Given the description of an element on the screen output the (x, y) to click on. 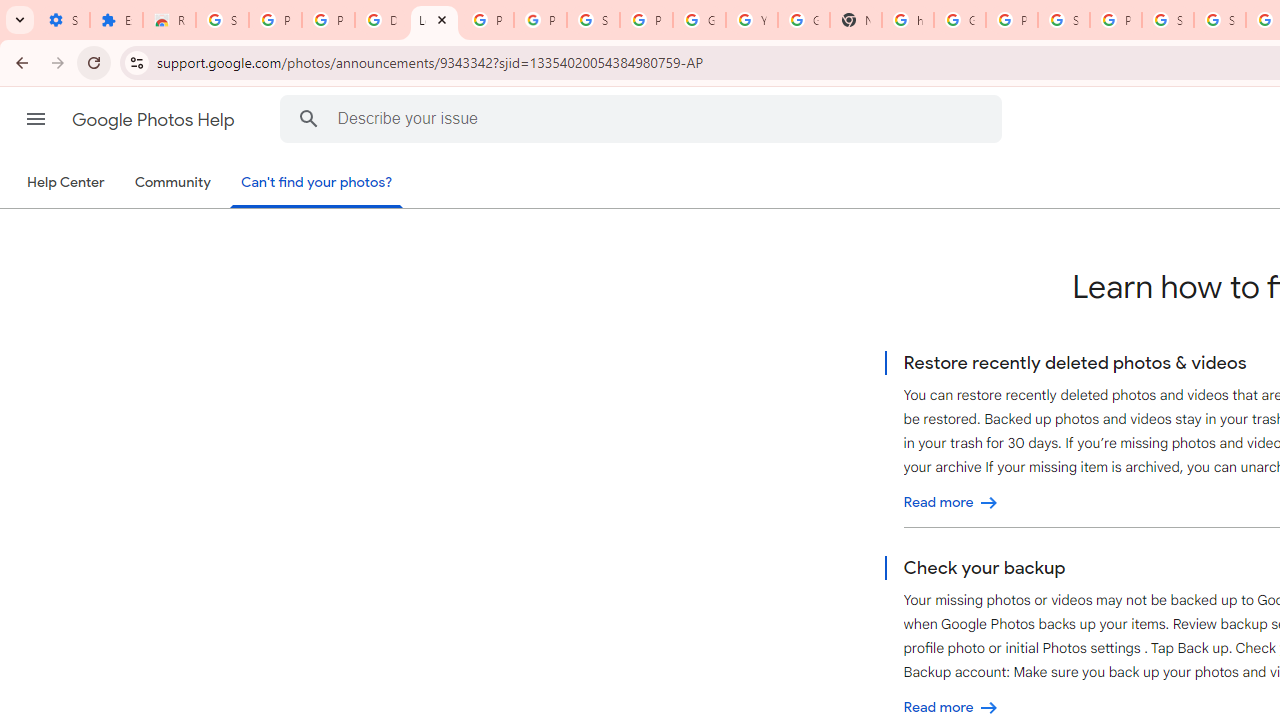
Check your backup (951, 708)
https://scholar.google.com/ (907, 20)
Can't find your photos? (317, 183)
Delete photos & videos - Computer - Google Photos Help (381, 20)
Restore recently deleted photos & videos (951, 502)
Sign in - Google Accounts (222, 20)
Describe your issue (644, 118)
